Given the description of an element on the screen output the (x, y) to click on. 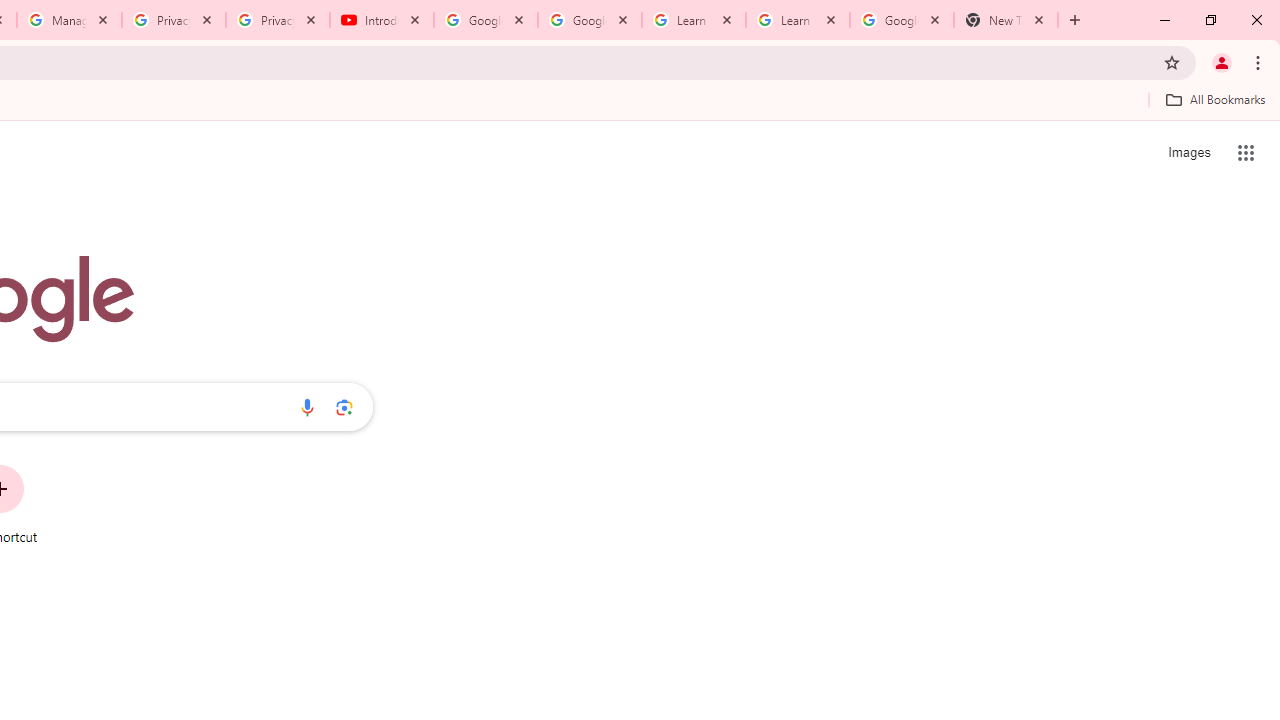
Google Account (901, 20)
Google Account Help (485, 20)
Google Account Help (589, 20)
